Given the description of an element on the screen output the (x, y) to click on. 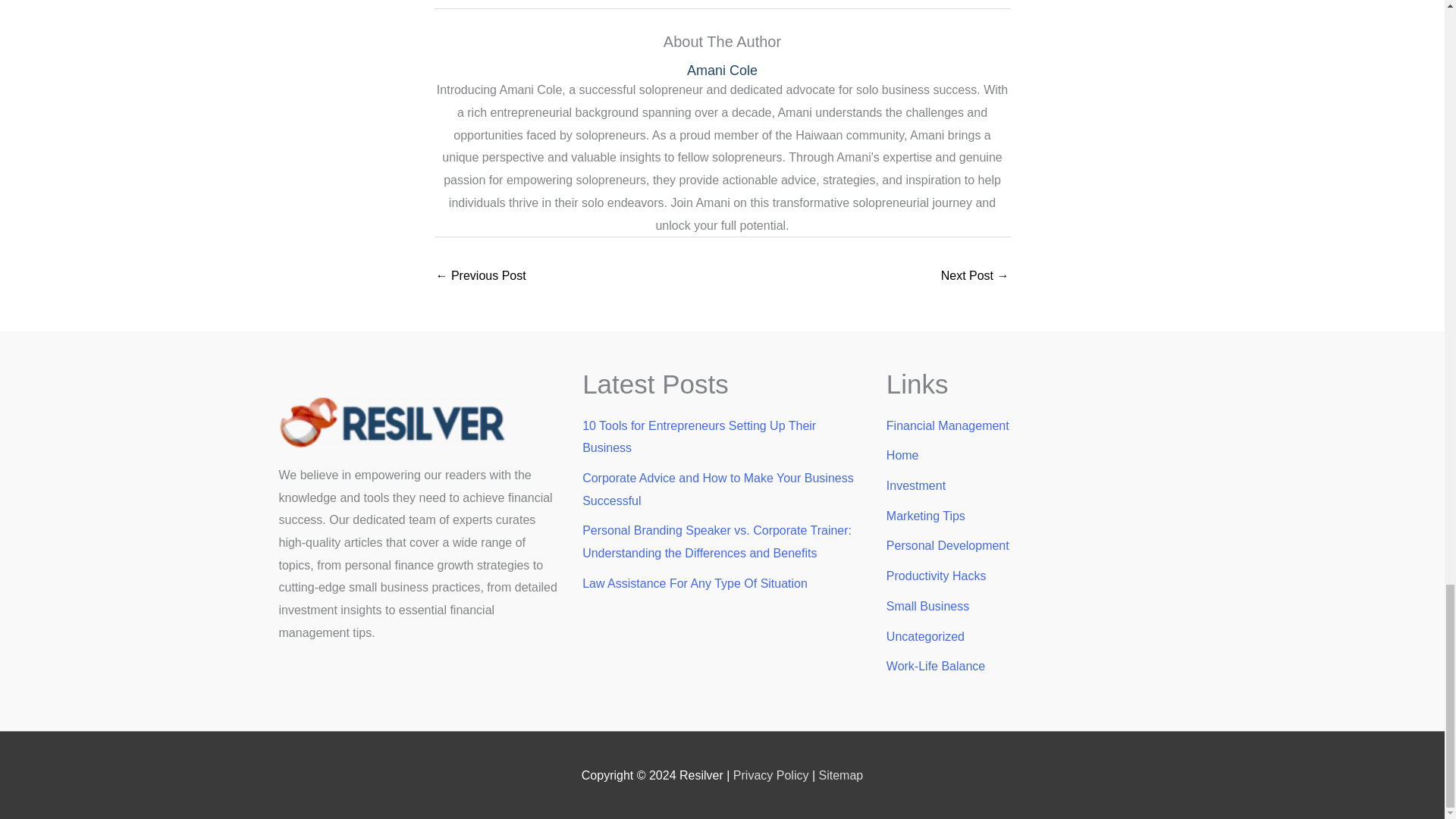
Home (902, 454)
Financial Management (947, 425)
Small Business (927, 605)
Privacy Policy (771, 775)
Law Assistance For Any Type Of Situation (695, 583)
Personal Development (947, 545)
Productivity Hacks (936, 575)
Corporate Advice and How to Make Your Business Successful (717, 488)
Investment (915, 485)
